Given the description of an element on the screen output the (x, y) to click on. 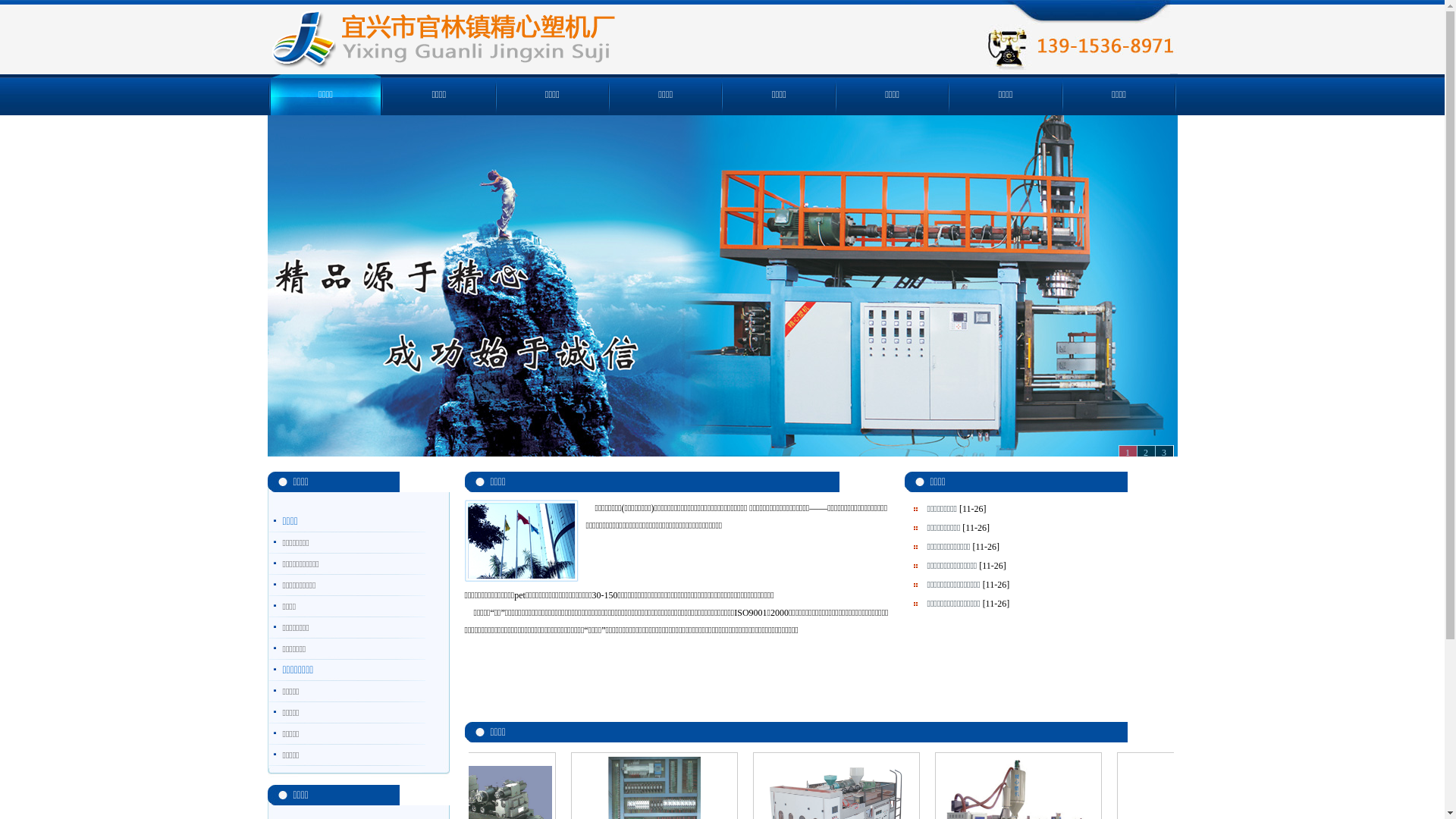
2 Element type: text (1144, 452)
1 Element type: text (1126, 452)
3 Element type: text (1163, 452)
